Given the description of an element on the screen output the (x, y) to click on. 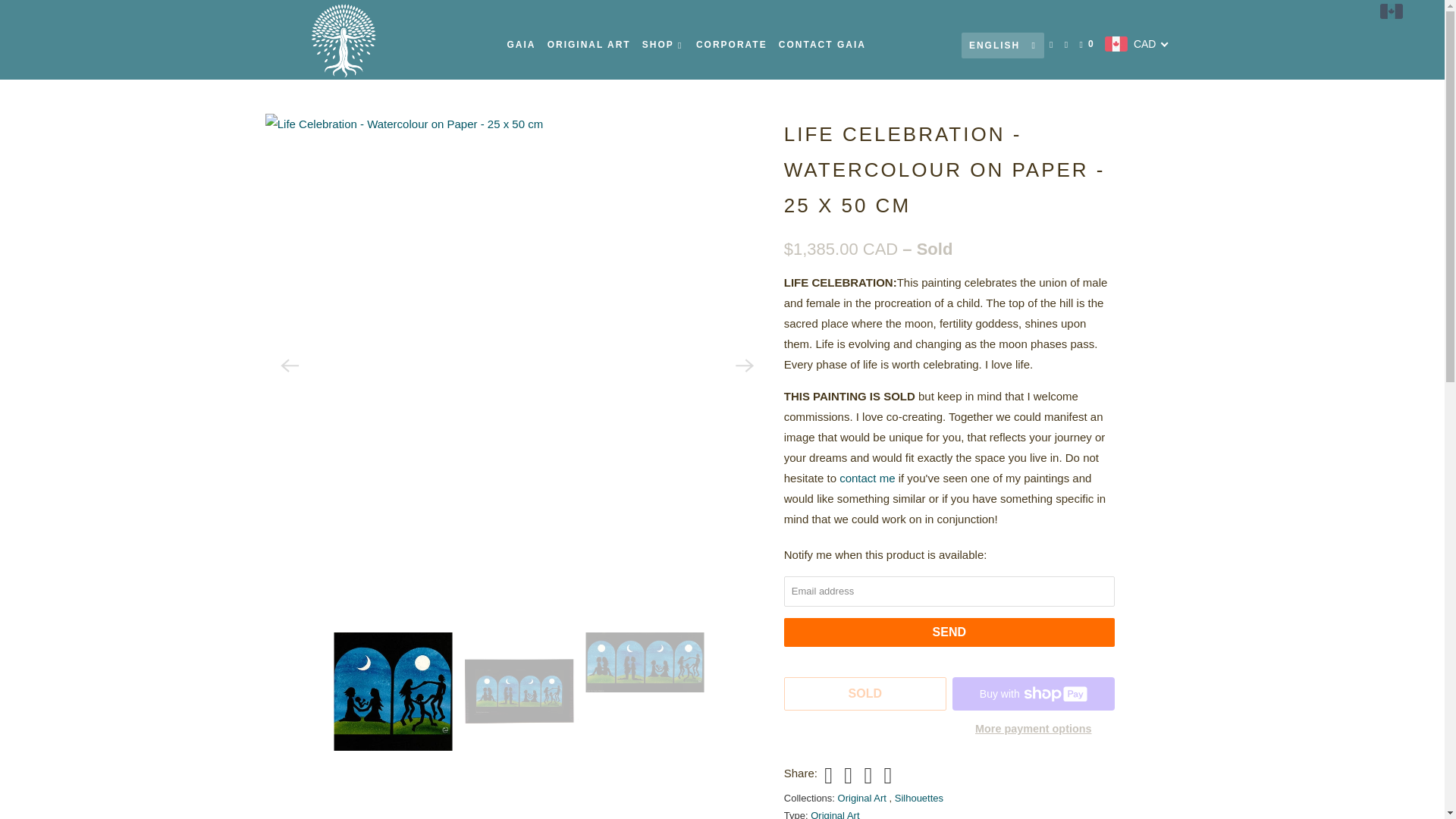
ORIGINAL ART (588, 43)
GAIA (520, 43)
Send (949, 632)
Gaia Orion Art (342, 39)
CORPORATE (731, 43)
CONTACT GAIA (822, 43)
ENGLISH (1001, 44)
Original Art (834, 814)
Silhouettes (919, 797)
Original Art (863, 797)
